Given the description of an element on the screen output the (x, y) to click on. 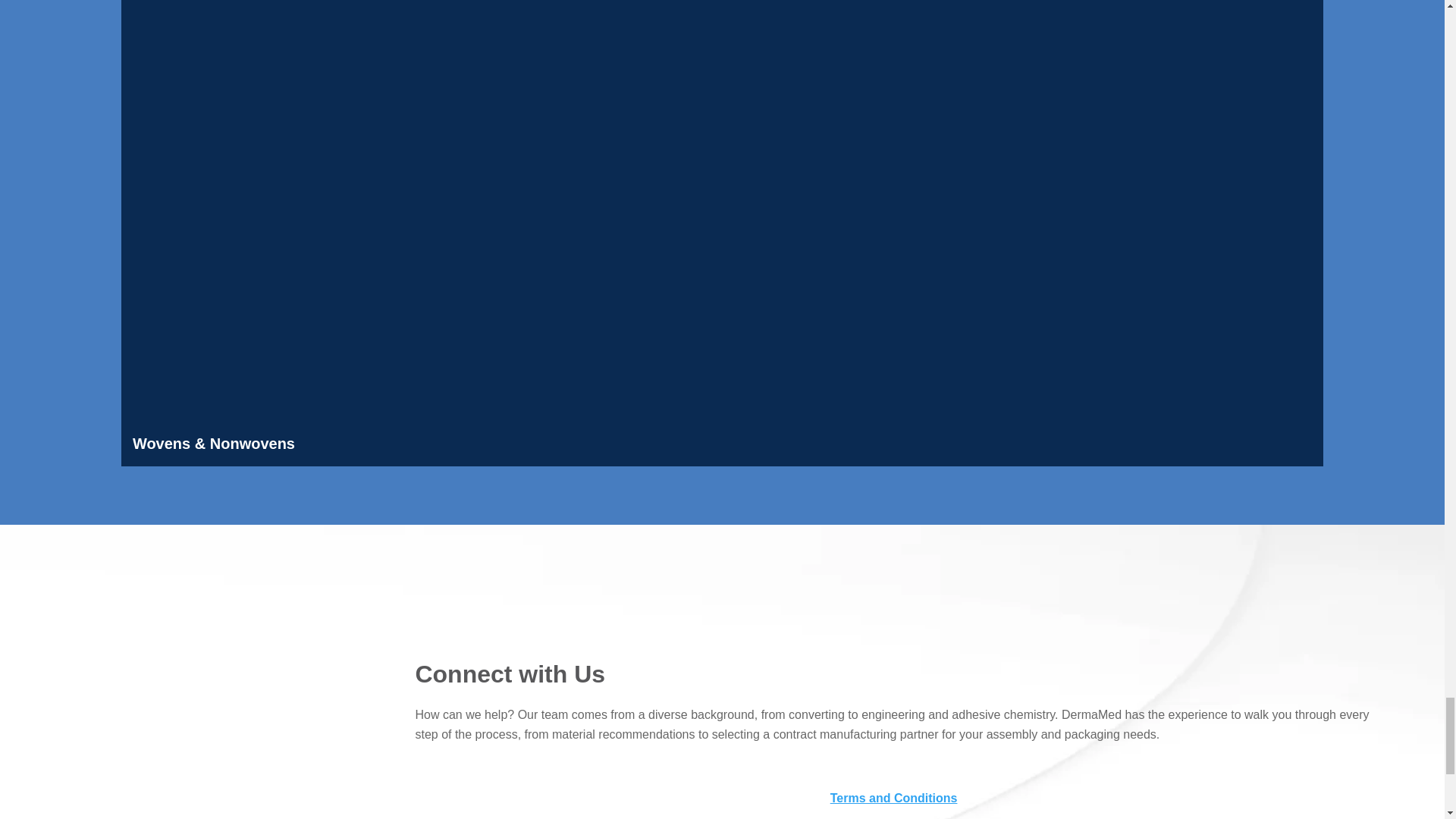
Terms and Conditions (893, 797)
